Given the description of an element on the screen output the (x, y) to click on. 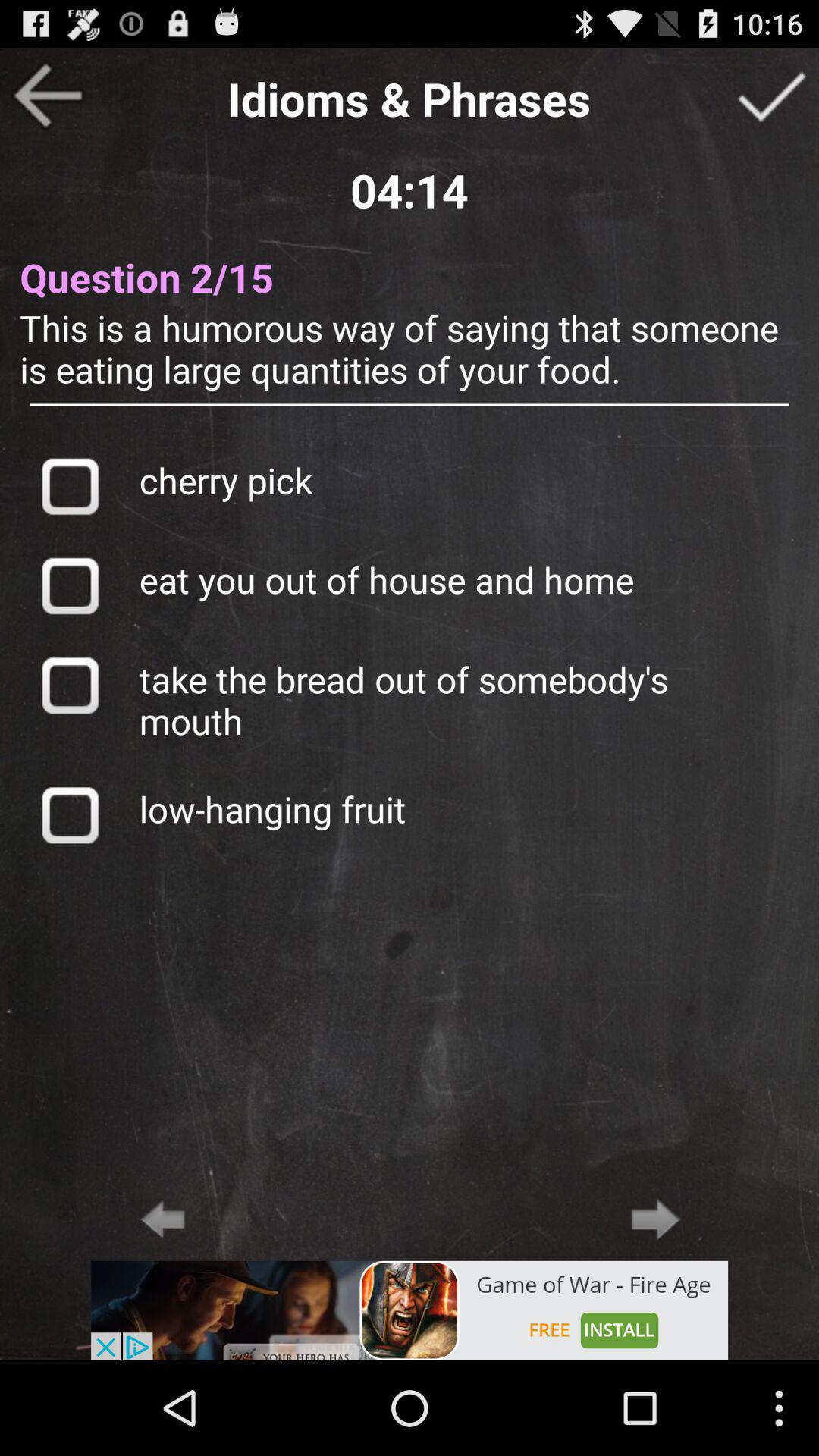
click on back arrow (162, 1218)
select the third check box (69, 684)
select tick mark icon beside idioms  phrases (771, 95)
click on the check box which is on the left side of cherry pick (69, 486)
click on the box which is left side of the text eat you out of house and home (69, 585)
click on next arrow icon (656, 1218)
